Given the description of an element on the screen output the (x, y) to click on. 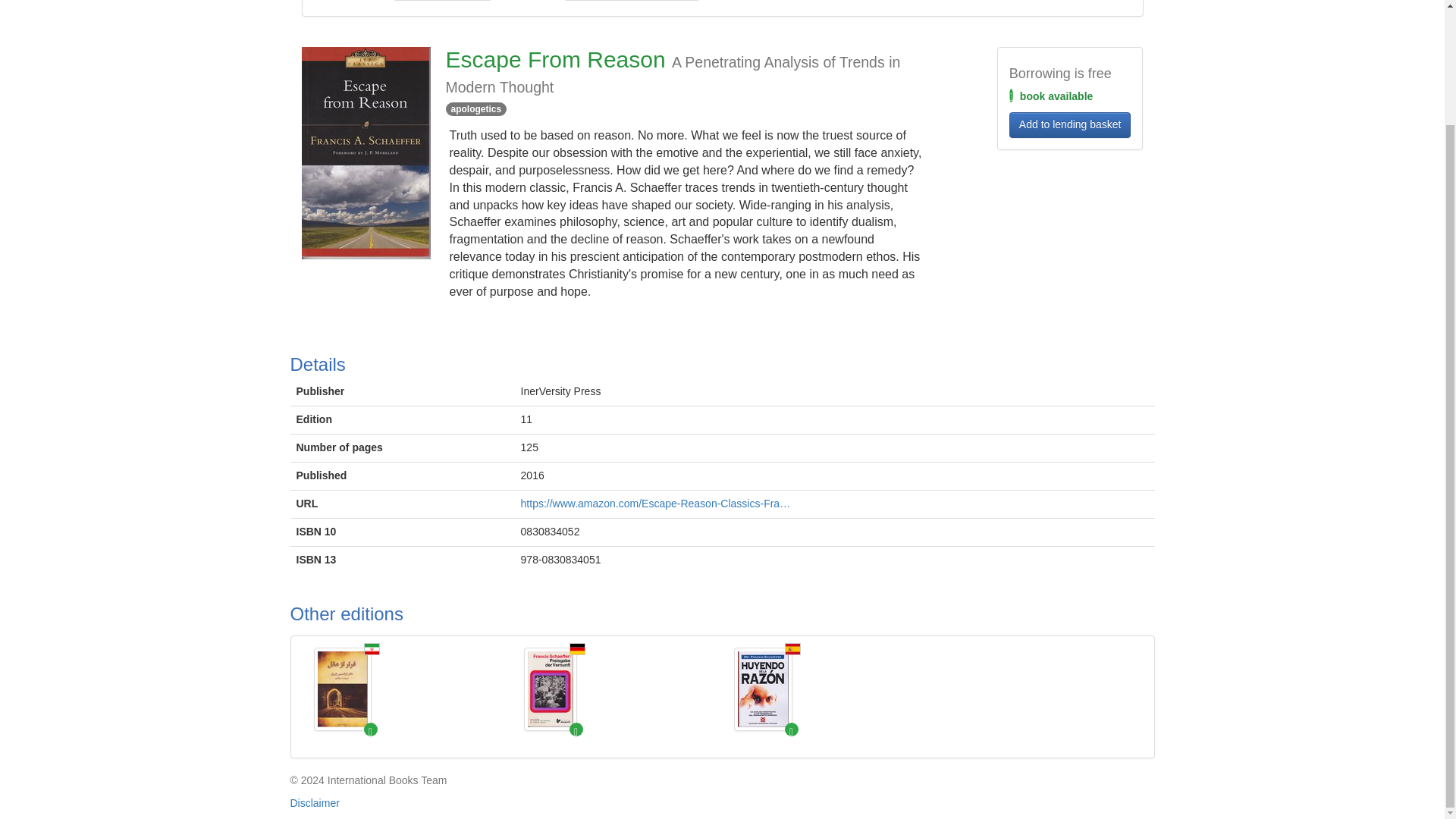
Disclaimer (314, 802)
Add to lending basket (1070, 125)
Add to lending basket (1070, 125)
